Given the description of an element on the screen output the (x, y) to click on. 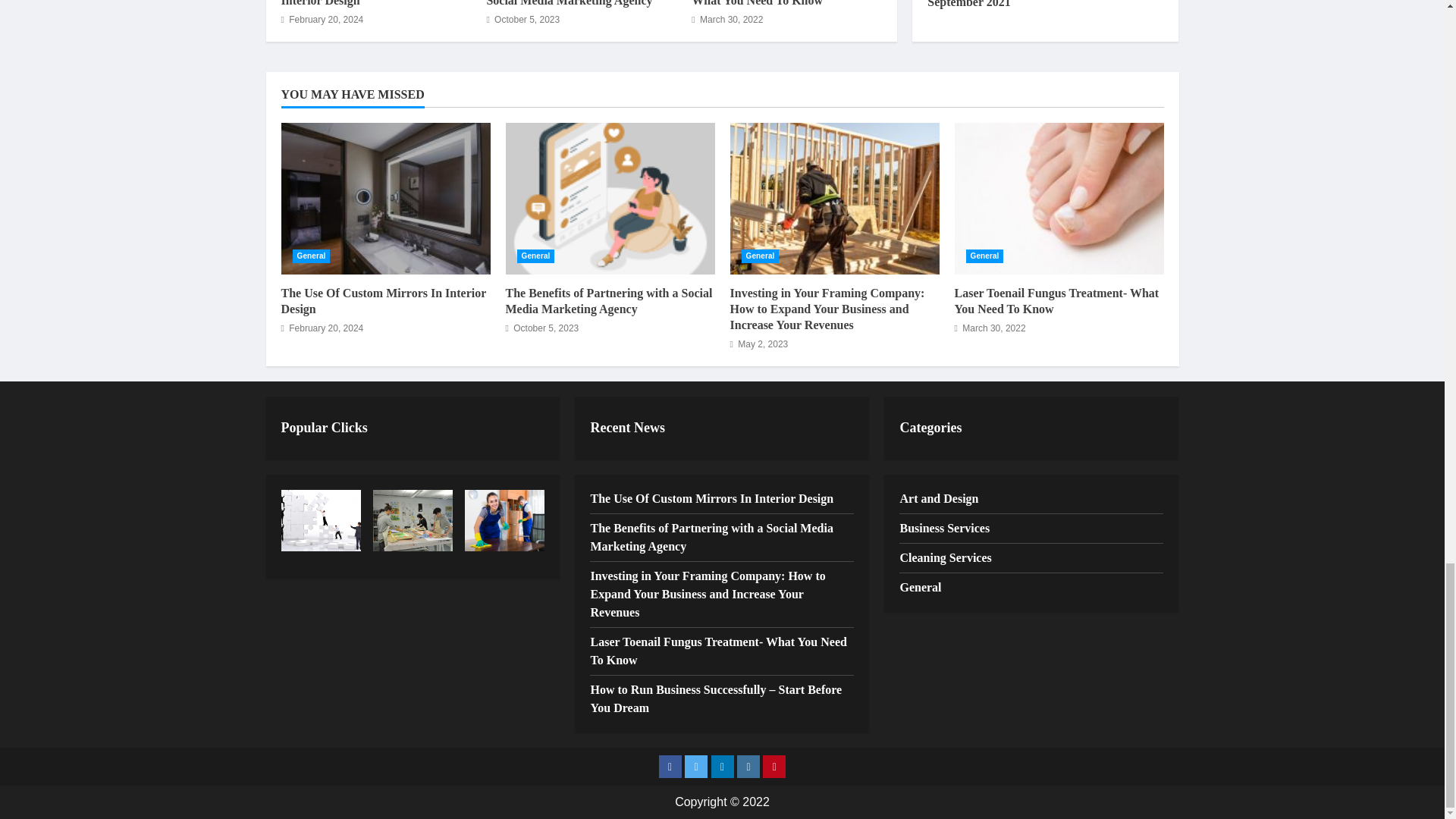
Laser Toenail Fungus Treatment- What You Need To Know (777, 3)
The Use Of Custom Mirrors In Interior Design (361, 3)
